Given the description of an element on the screen output the (x, y) to click on. 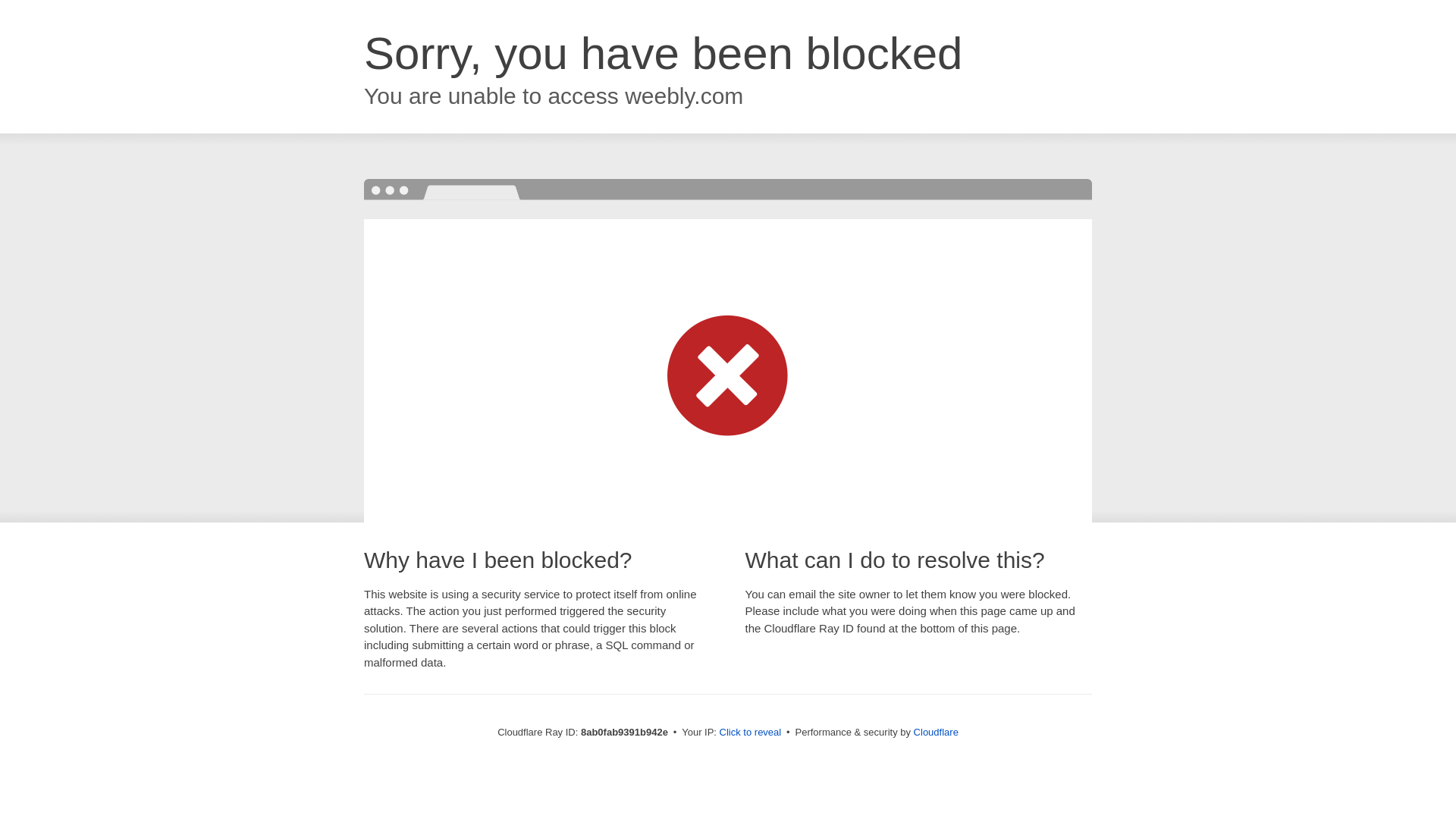
Cloudflare (936, 731)
Click to reveal (750, 732)
